Given the description of an element on the screen output the (x, y) to click on. 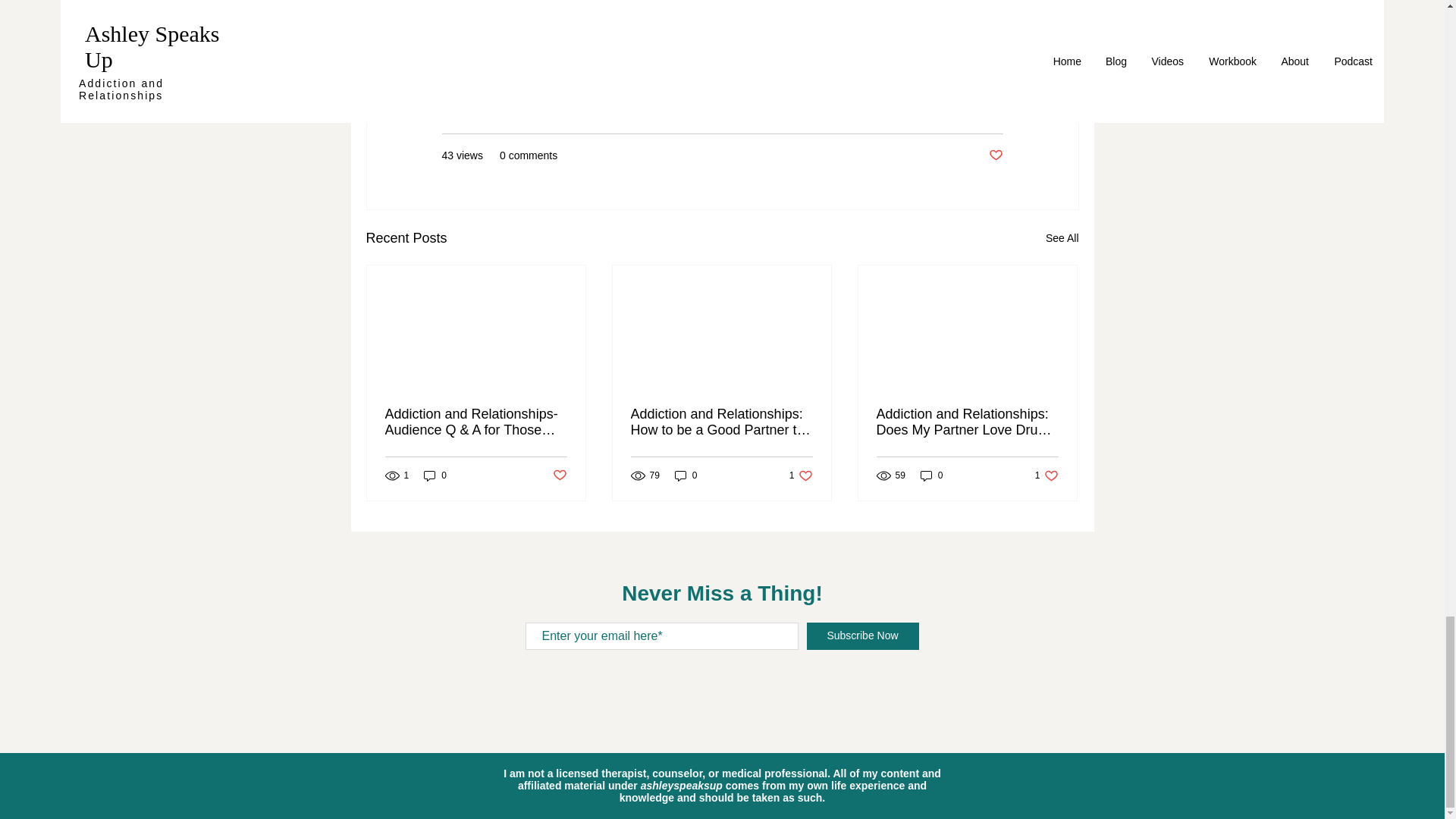
0 (931, 474)
Post not marked as liked (995, 155)
Subscribe Now (862, 636)
See All (1046, 474)
0 (1061, 238)
Post not marked as liked (435, 474)
